Given the description of an element on the screen output the (x, y) to click on. 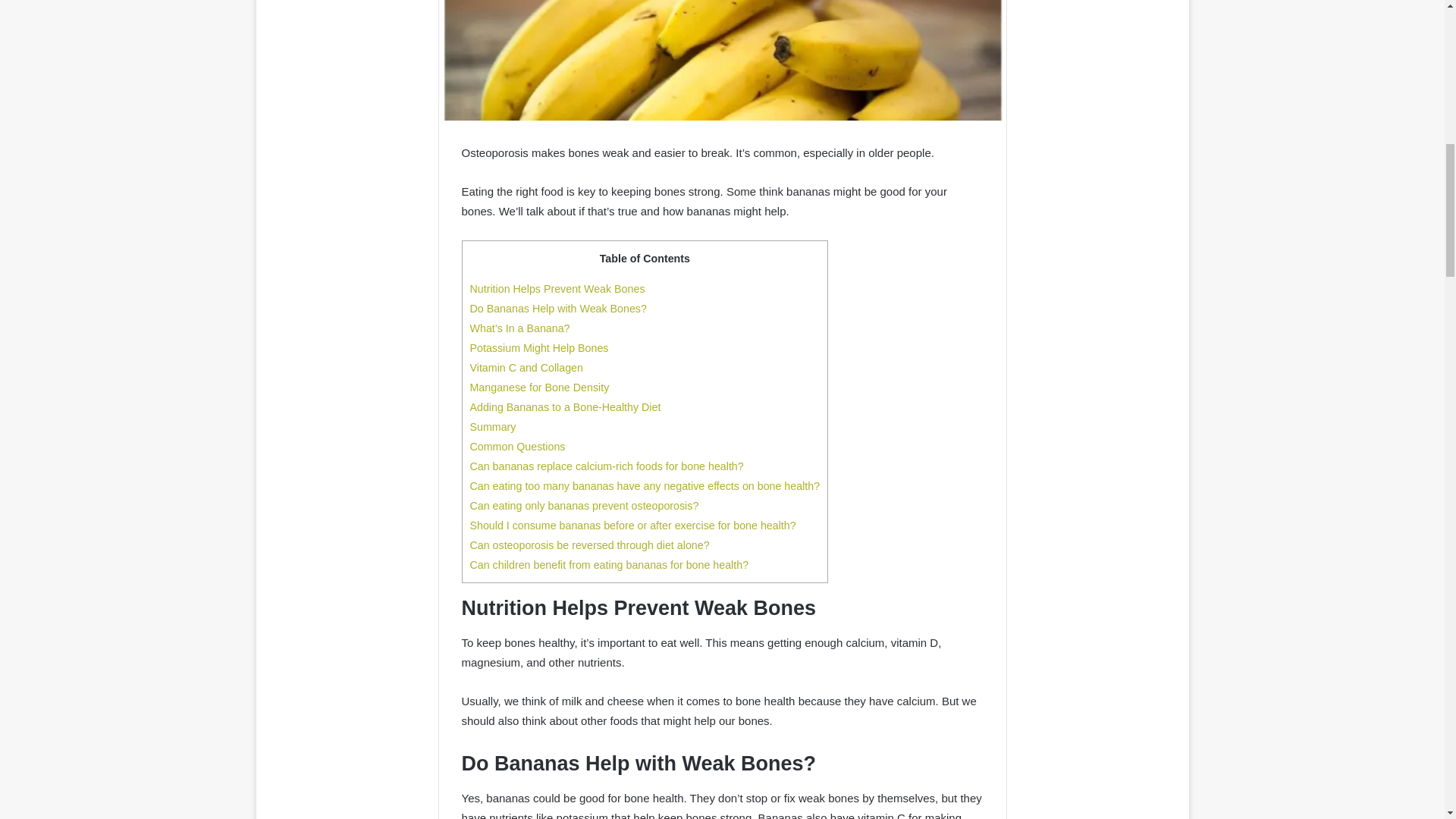
Vitamin C and Collagen (526, 367)
Summary (493, 426)
Adding Bananas to a Bone-Healthy Diet (565, 407)
Common Questions (518, 446)
Manganese for Bone Density (540, 387)
Nutrition Helps Prevent Weak Bones (557, 288)
Potassium Might Help Bones (539, 347)
Do Bananas Help with Weak Bones? (558, 308)
